Given the description of an element on the screen output the (x, y) to click on. 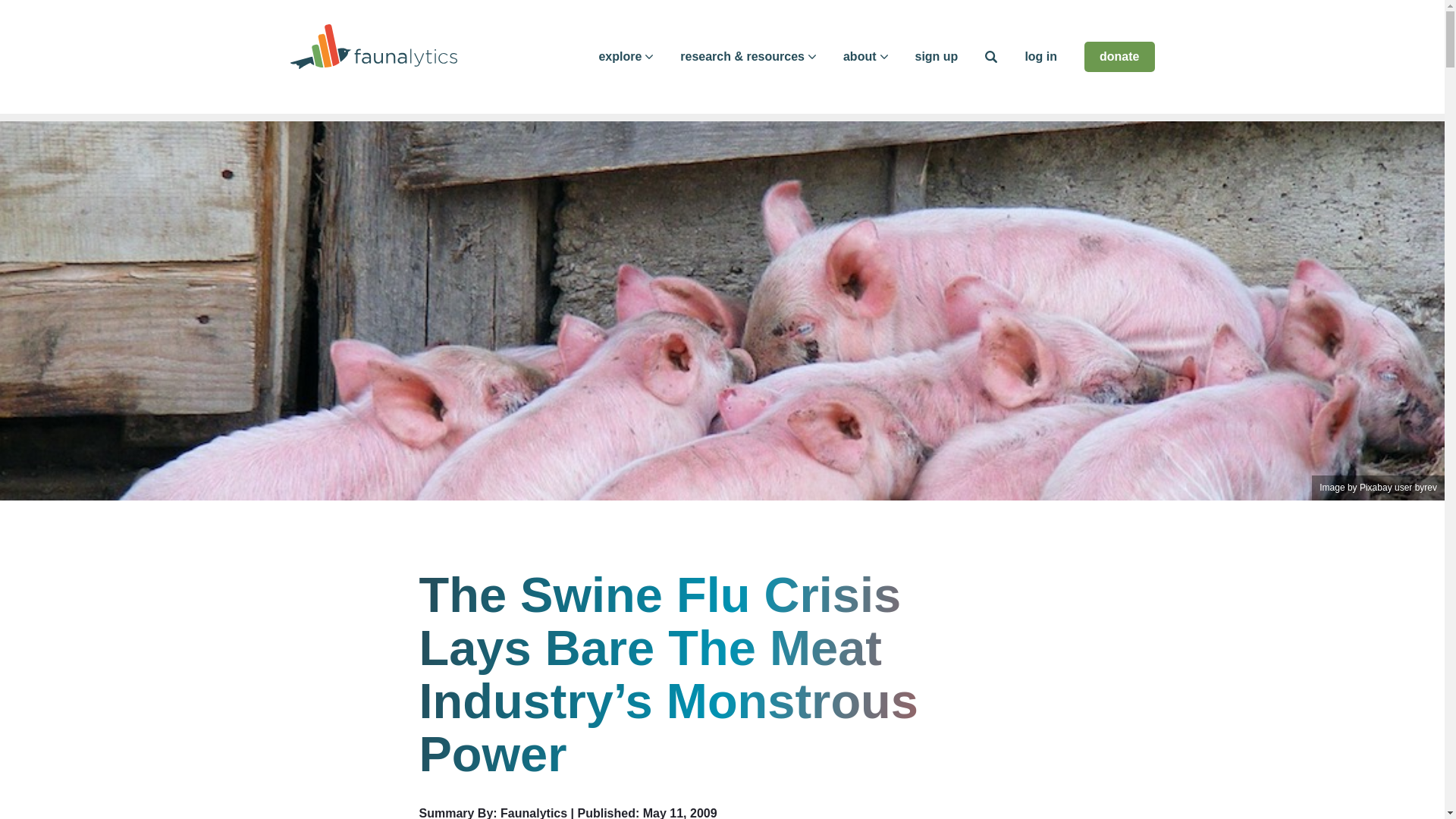
Posts by Faunalytics (533, 812)
sign up (936, 56)
log in (1041, 56)
donate (1119, 56)
